Given the description of an element on the screen output the (x, y) to click on. 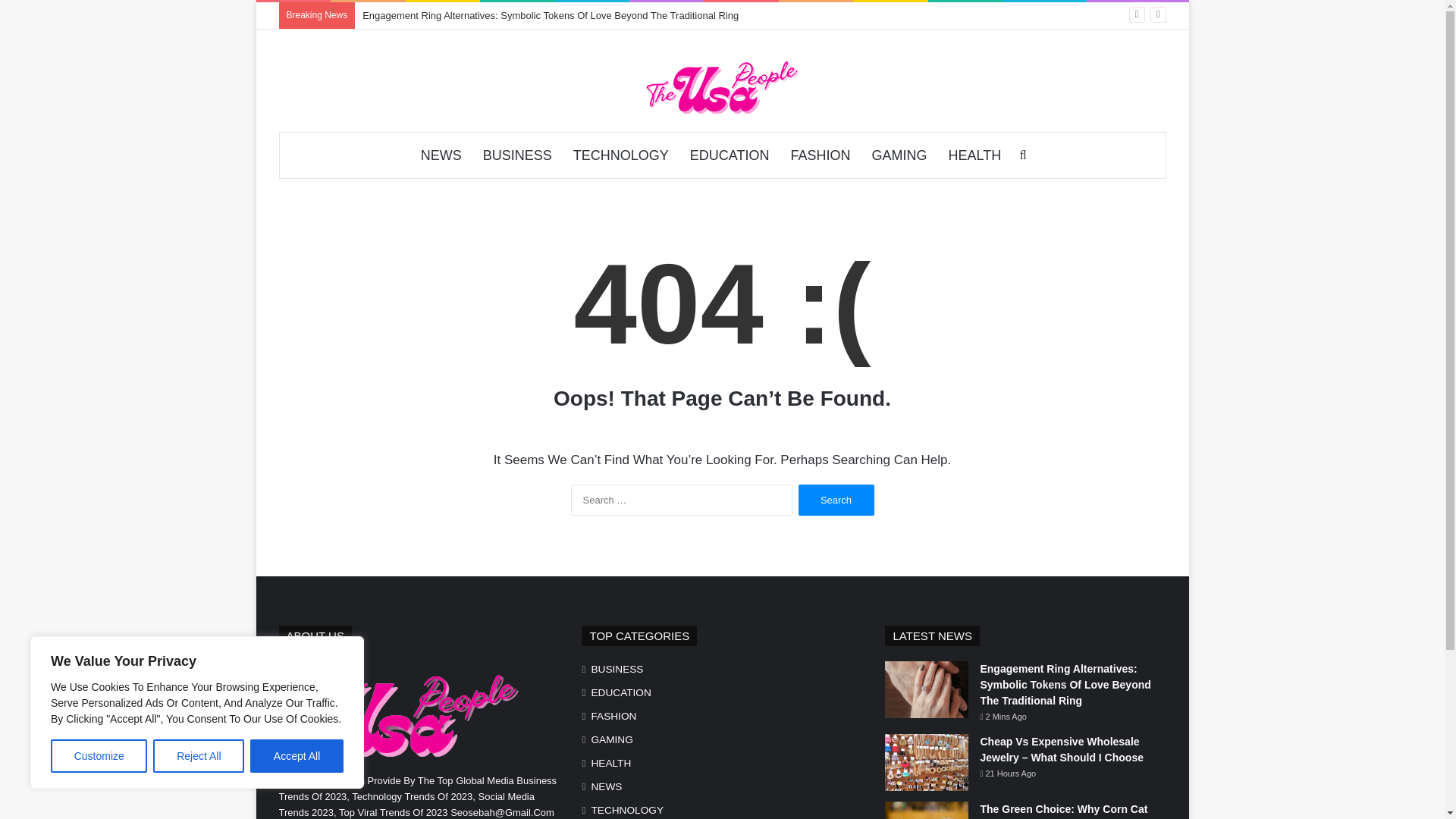
NEWS (440, 155)
BUSINESS (516, 155)
The Usa People (721, 86)
FASHION (819, 155)
GAMING (899, 155)
GAMING (611, 739)
TECHNOLOGY (620, 155)
TECHNOLOGY (627, 810)
Accept All (296, 756)
NEWS (606, 786)
